Given the description of an element on the screen output the (x, y) to click on. 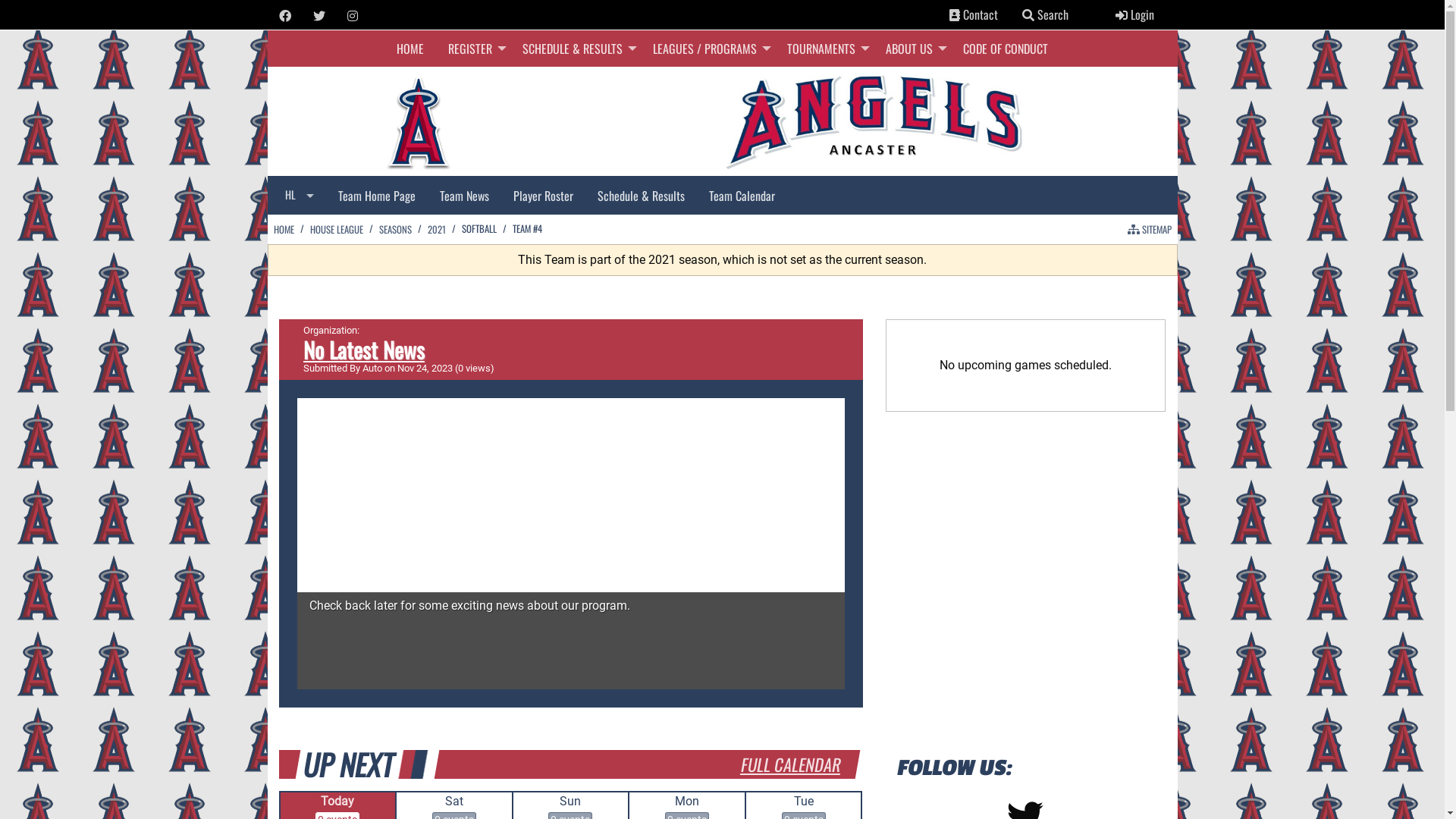
HL Element type: text (299, 194)
Instagram Element type: hover (352, 15)
Team Home Page Element type: text (376, 194)
HOME Element type: text (410, 48)
Twitter Element type: hover (319, 15)
LEAGUES / PROGRAMS Element type: text (707, 48)
Search Element type: hover (1028, 15)
Schedule & Results Element type: text (640, 194)
Team Calendar Element type: text (741, 194)
2021 Element type: text (436, 229)
HOUSE LEAGUE Element type: text (335, 229)
 SITEMAP Element type: text (1148, 229)
 Login Element type: text (1133, 14)
ABOUT US Element type: text (911, 48)
HOME Element type: text (283, 229)
 Search Element type: text (1045, 14)
REGISTER Element type: text (473, 48)
 Contact Element type: text (973, 14)
TOURNAMENTS Element type: text (824, 48)
Team News Element type: text (464, 194)
CODE OF CONDUCT Element type: text (1005, 48)
Facebook Element type: hover (285, 15)
Player Roster Element type: text (543, 194)
SCHEDULE & RESULTS Element type: text (575, 48)
No Latest News Element type: text (363, 349)
FULL CALENDAR Element type: text (790, 763)
Contacts Element type: hover (954, 15)
SEASONS Element type: text (395, 229)
